Given the description of an element on the screen output the (x, y) to click on. 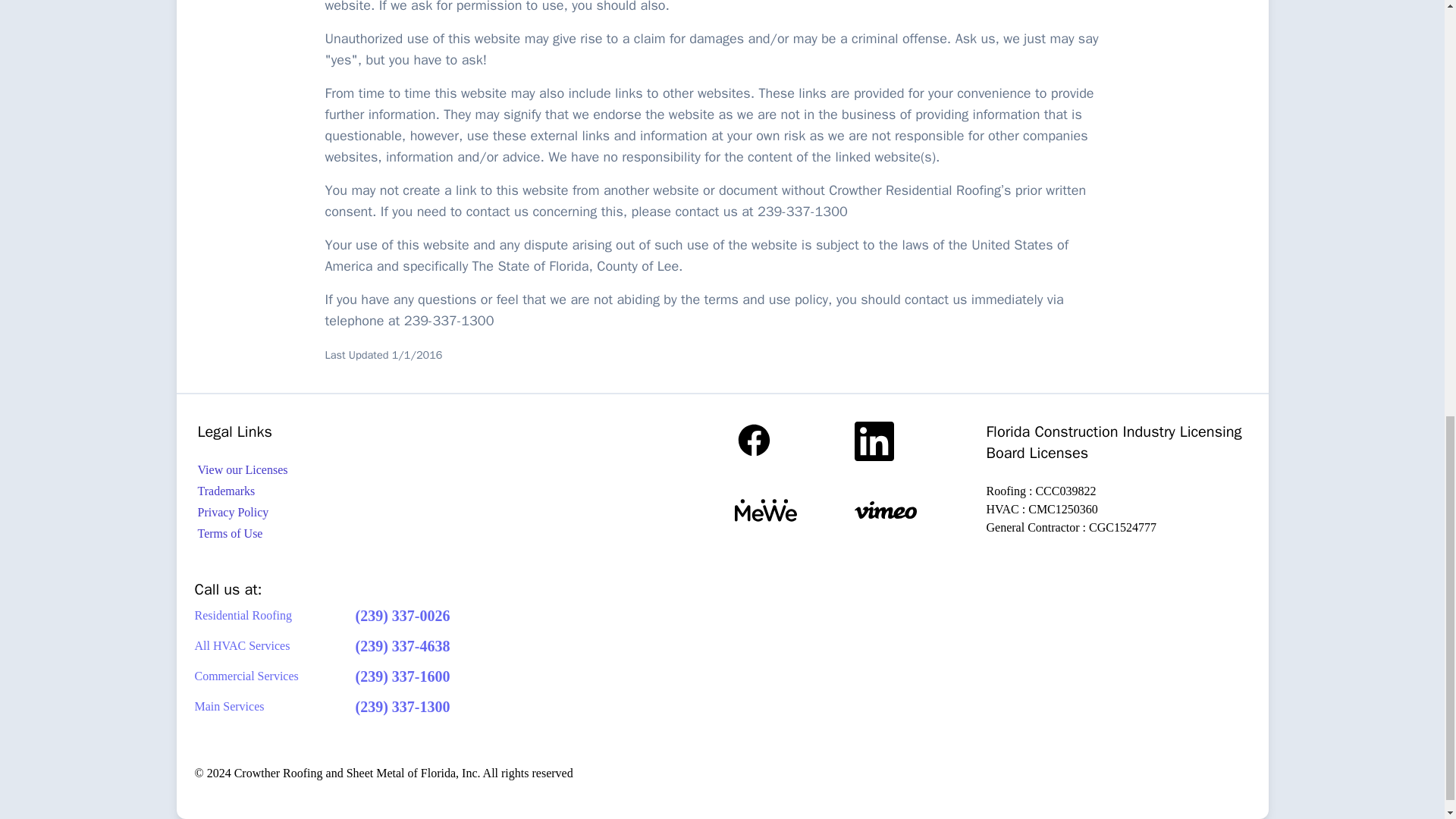
Visit our Facebook Page (793, 441)
Trademarks (325, 491)
Visit our LinkedIn Page (913, 441)
Terms of Use (325, 533)
Visit us on Vimeo (913, 510)
Visit us on MeWe (793, 510)
View our Licenses (325, 470)
Privacy Policy (325, 512)
